Given the description of an element on the screen output the (x, y) to click on. 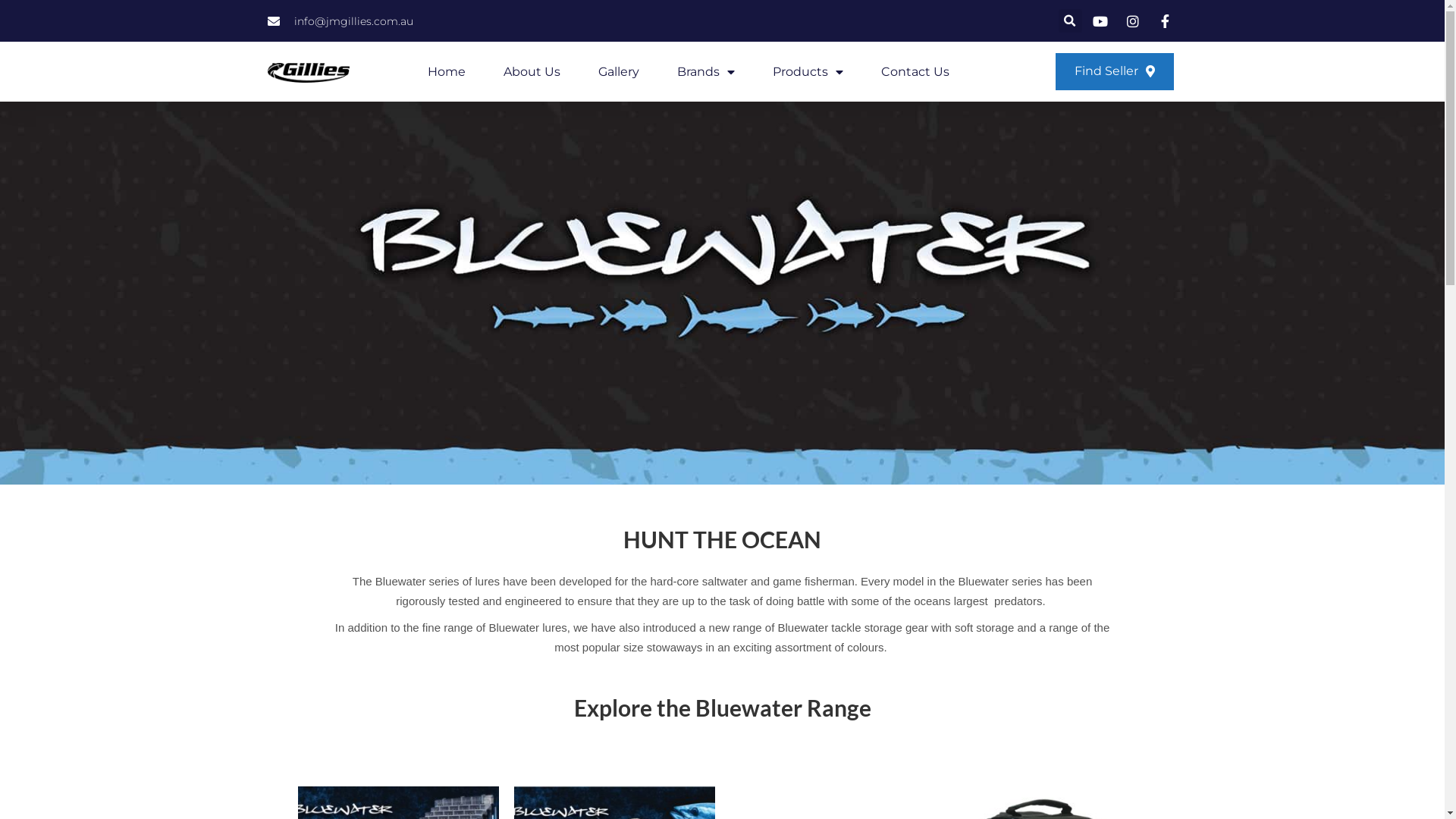
Brands Element type: text (705, 71)
Home Element type: text (446, 71)
About Us Element type: text (531, 71)
Gallery Element type: text (618, 71)
Find Seller Element type: text (1114, 71)
info@jmgillies.com.au Element type: text (339, 20)
Products Element type: text (807, 71)
Contact Us Element type: text (915, 71)
